Given the description of an element on the screen output the (x, y) to click on. 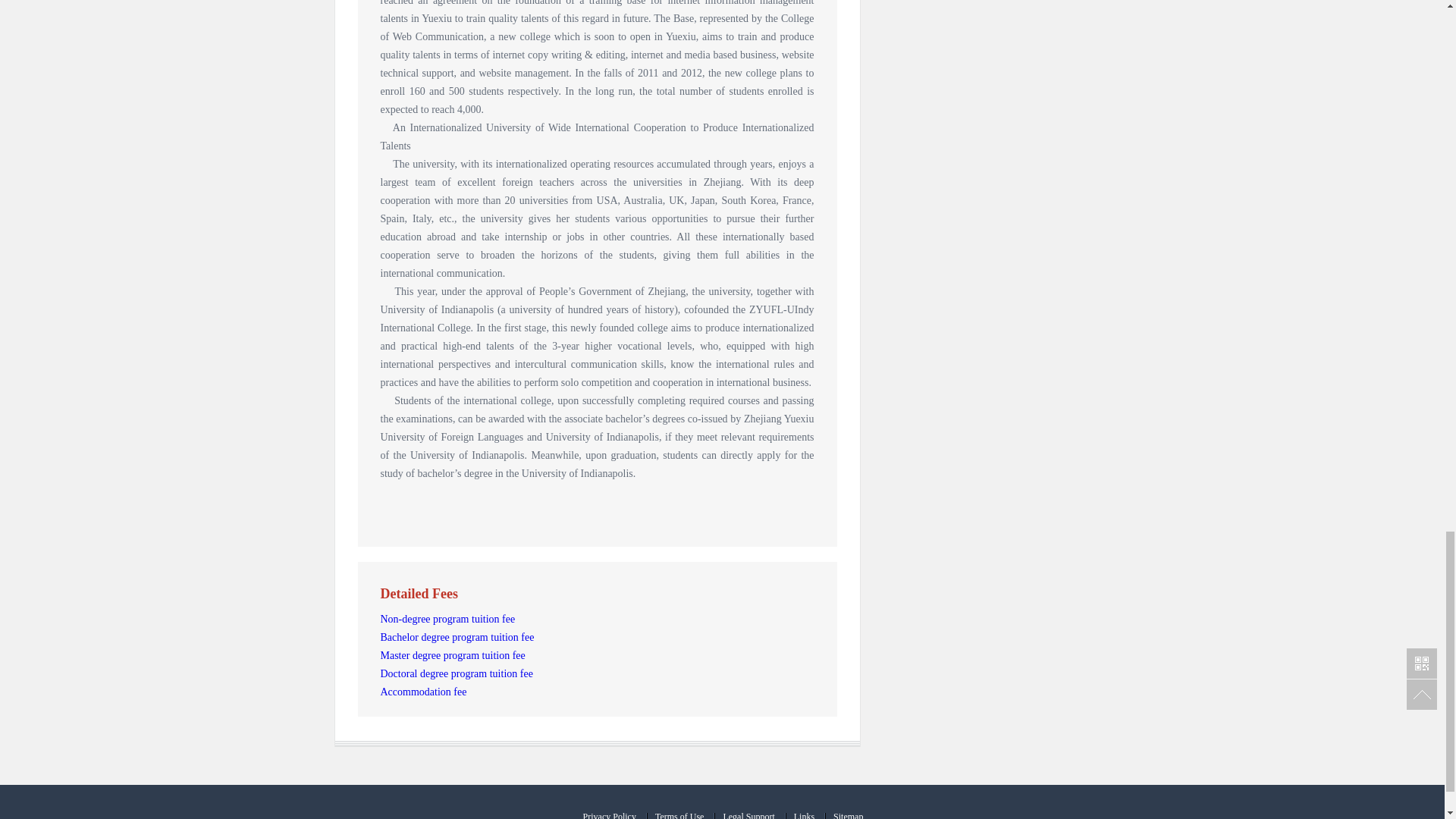
Master degree program tuition fee (452, 655)
Non-degree program tuition fee (447, 618)
Bachelor degree program tuition fee (457, 636)
Doctoral degree program tuition fee (456, 673)
Accommodation fee (423, 691)
